Given the description of an element on the screen output the (x, y) to click on. 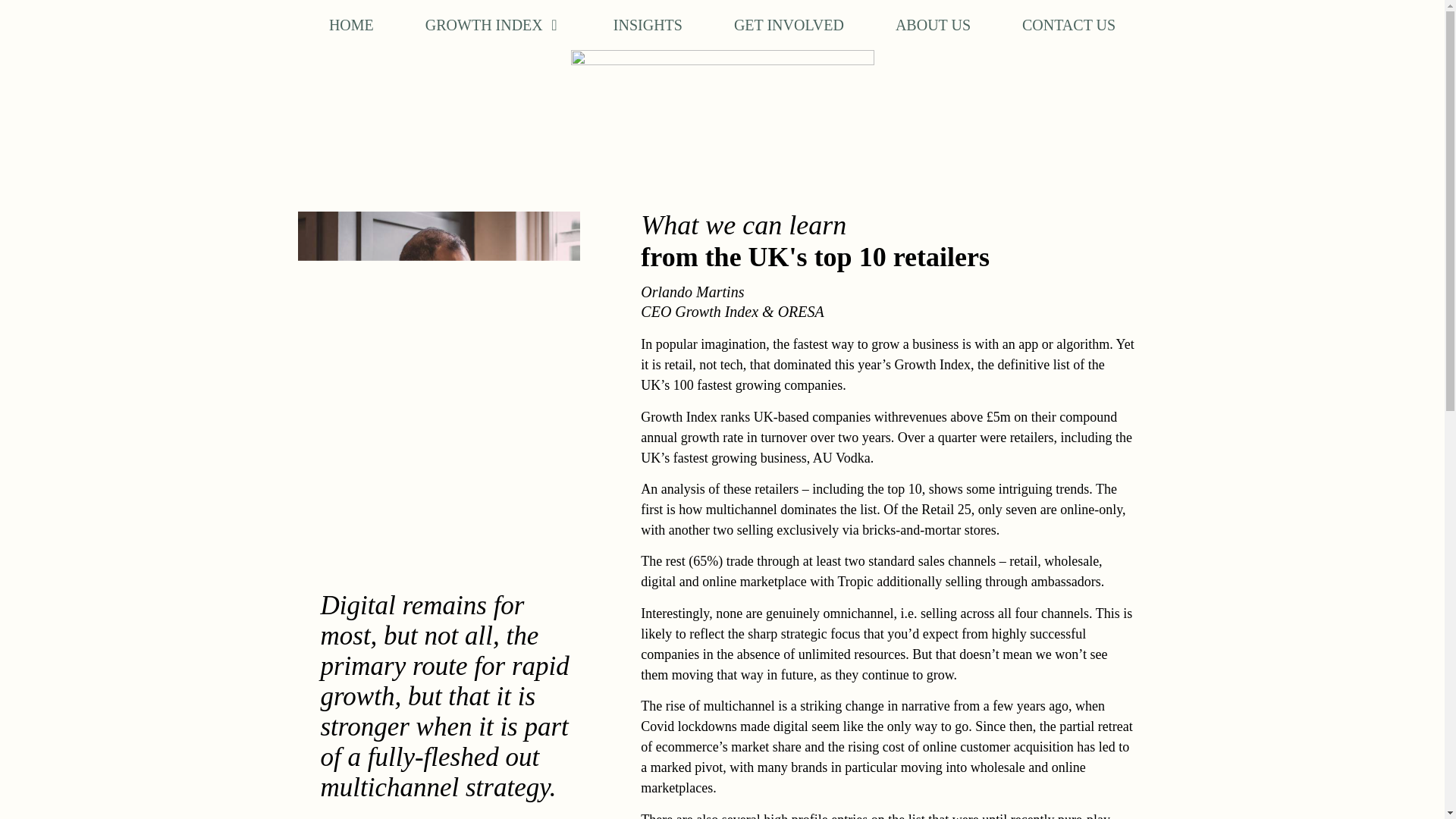
HOME (351, 24)
INSIGHTS (647, 24)
CONTACT US (1068, 24)
ABOUT US (933, 24)
GET INVOLVED (788, 24)
